Given the description of an element on the screen output the (x, y) to click on. 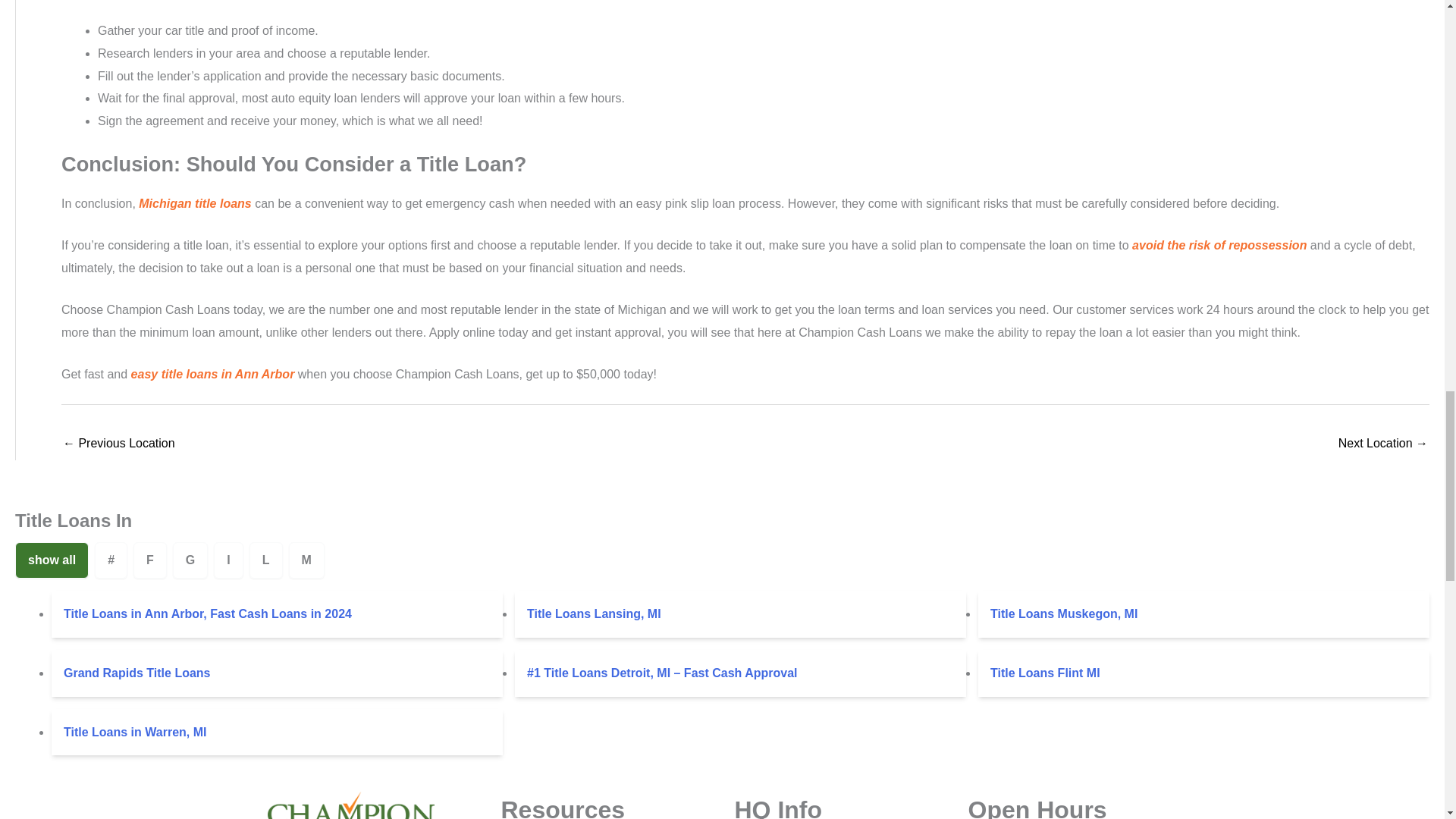
avoid the risk of repossession (1219, 245)
Grand Rapids Title Loans (276, 673)
Title Loans Flint MI (1203, 673)
Michigan title loans (194, 203)
Title Loans Muskegon, MI (1203, 614)
easy title loans in Ann Arbor (213, 373)
Title Loans in Ann Arbor, Fast Cash Loans in 2024 (276, 614)
Title Loans Lansing, MI (740, 614)
Title Loans in Warren, MI (276, 732)
Title Loans in Murray, KY (118, 444)
